Given the description of an element on the screen output the (x, y) to click on. 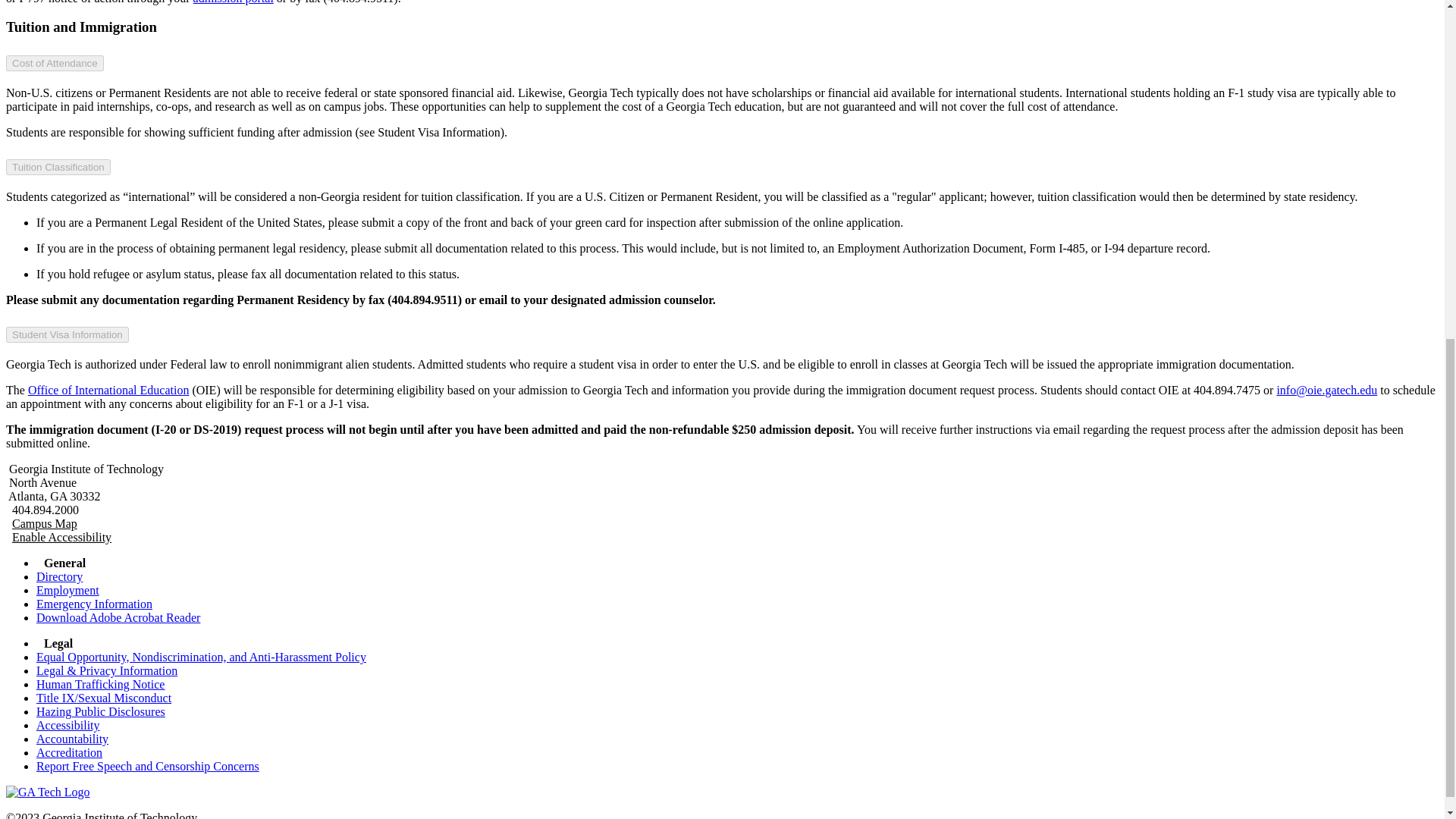
Georgia Institute of Technology Emergency Information (94, 603)
Georgia Institute of Technology Directory (59, 576)
Tuition Classification (57, 166)
Georgia Tech Hazing Conduct History (100, 711)
Georgia Institute of Technology Employment (67, 590)
Georgia Institute of Technology Accreditation (68, 752)
Cost of Attendance (54, 63)
admission portal (233, 2)
Georgia Institute of Technology Accessibility Resources (68, 725)
